Given the description of an element on the screen output the (x, y) to click on. 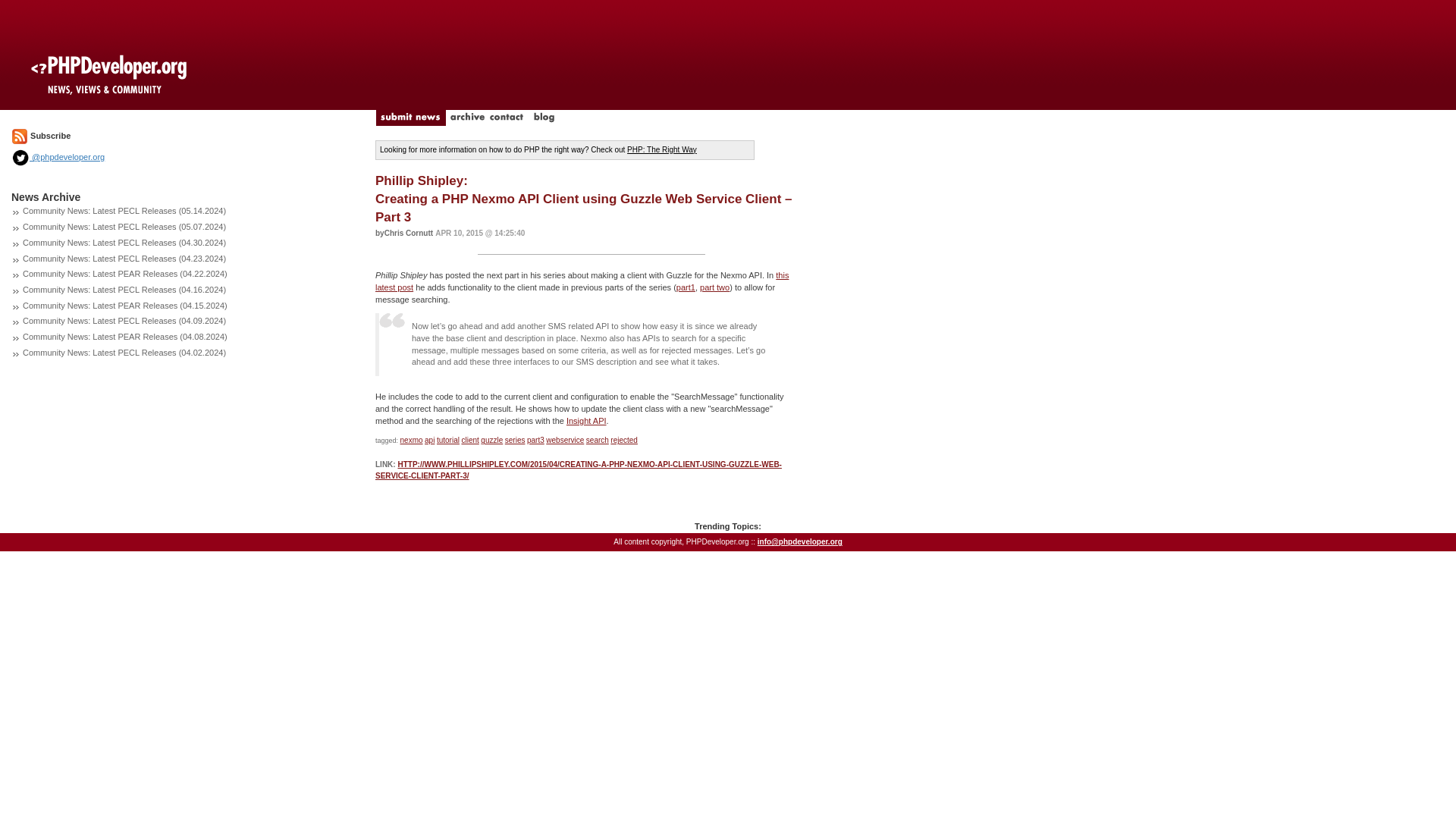
guzzle (491, 439)
Insight API (586, 420)
tutorial (448, 439)
api (429, 439)
webservice (564, 439)
rejected (623, 439)
part two (714, 286)
PHP: The Right Way (662, 149)
series (515, 439)
nexmo (411, 439)
this latest post (582, 281)
search (597, 439)
part1 (686, 286)
part3 (535, 439)
client (470, 439)
